Given the description of an element on the screen output the (x, y) to click on. 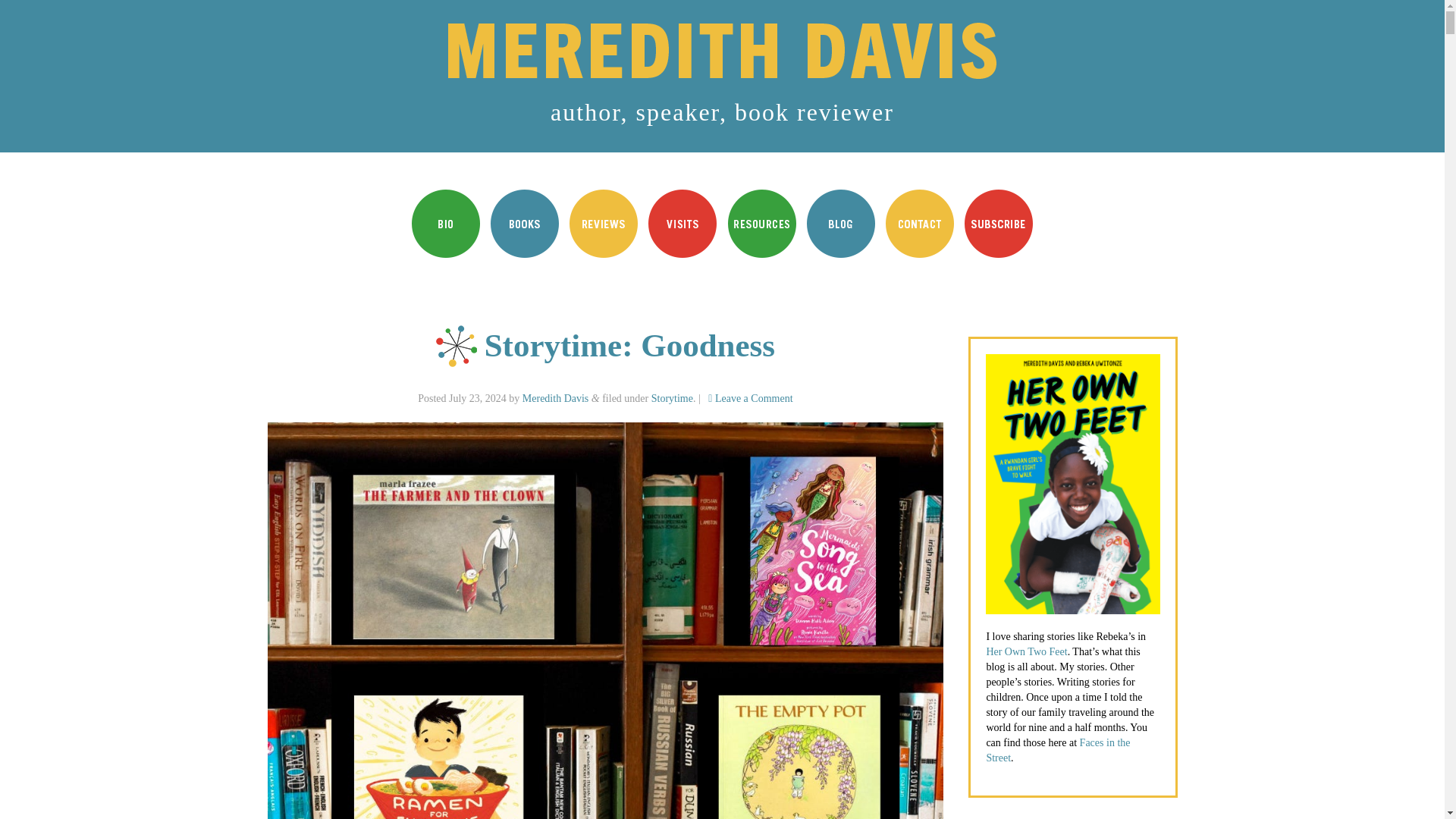
Storytime: Goodness (629, 345)
Meredith Davis (555, 398)
Posts by Meredith Davis (555, 398)
Storytime (671, 398)
Leave a Comment (749, 398)
Storytime: Goodness (629, 345)
